Given the description of an element on the screen output the (x, y) to click on. 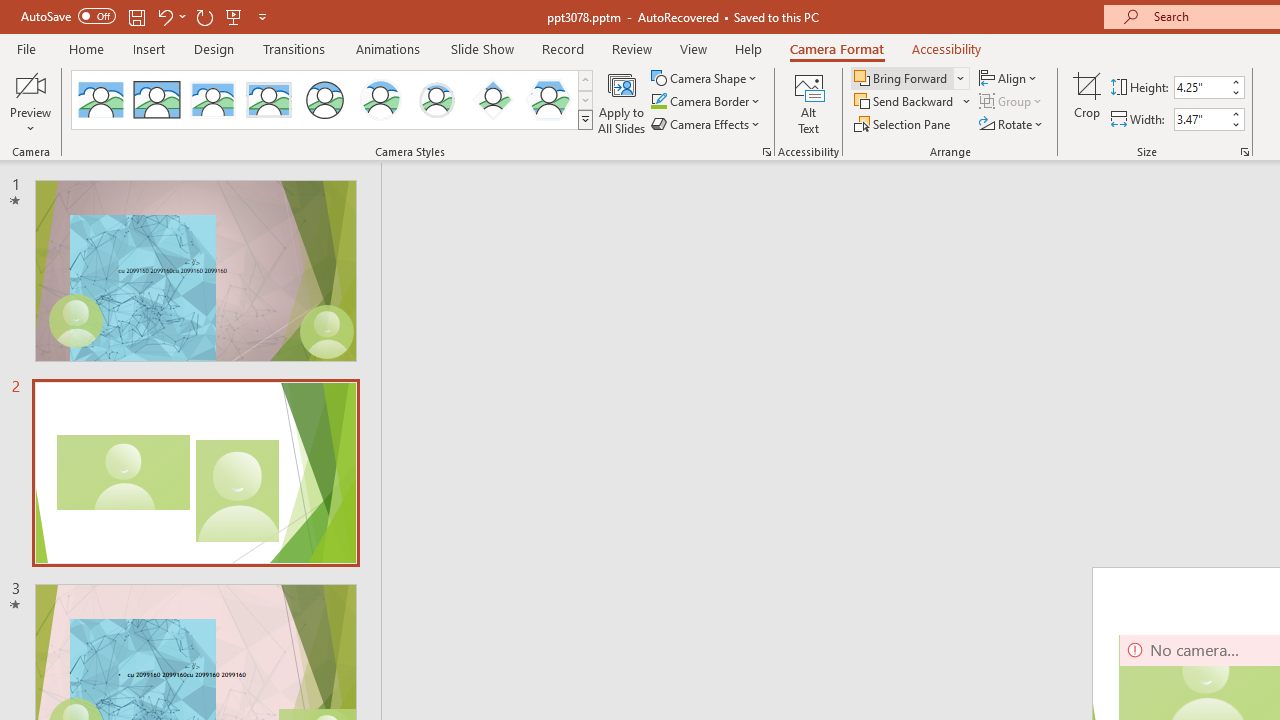
Simple Frame Rectangle (157, 100)
Center Shadow Diamond (492, 100)
Soft Edge Rectangle (268, 100)
Align (1009, 78)
Camera Border Green, Accent 1 (658, 101)
